Given the description of an element on the screen output the (x, y) to click on. 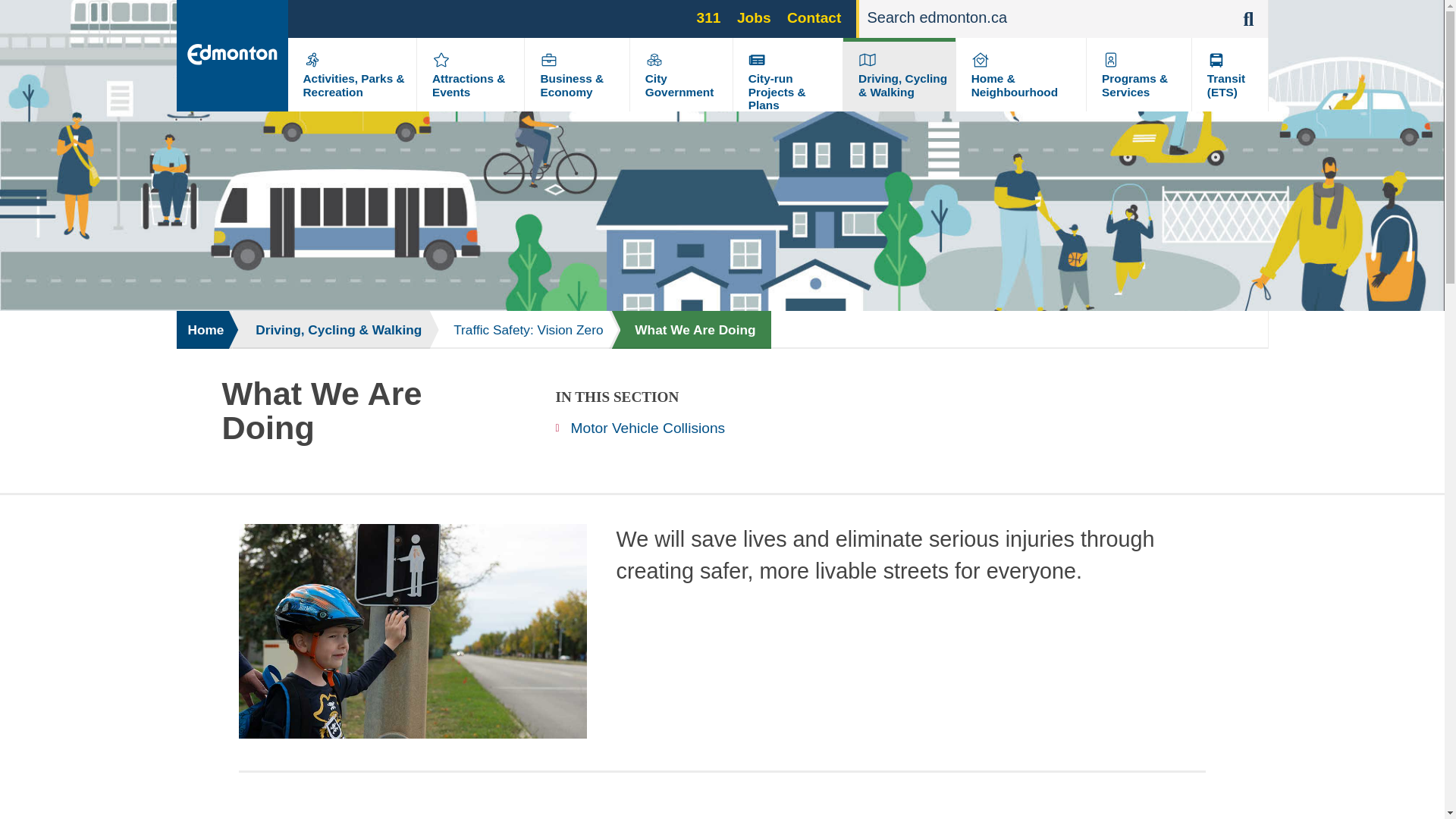
311 (708, 17)
Home (203, 329)
Motor Vehicle Collisions (639, 427)
City Government (679, 85)
What We Are Doing (690, 329)
Contact (814, 17)
Traffic Safety: Vision Zero (520, 329)
Jobs (753, 17)
